Given the description of an element on the screen output the (x, y) to click on. 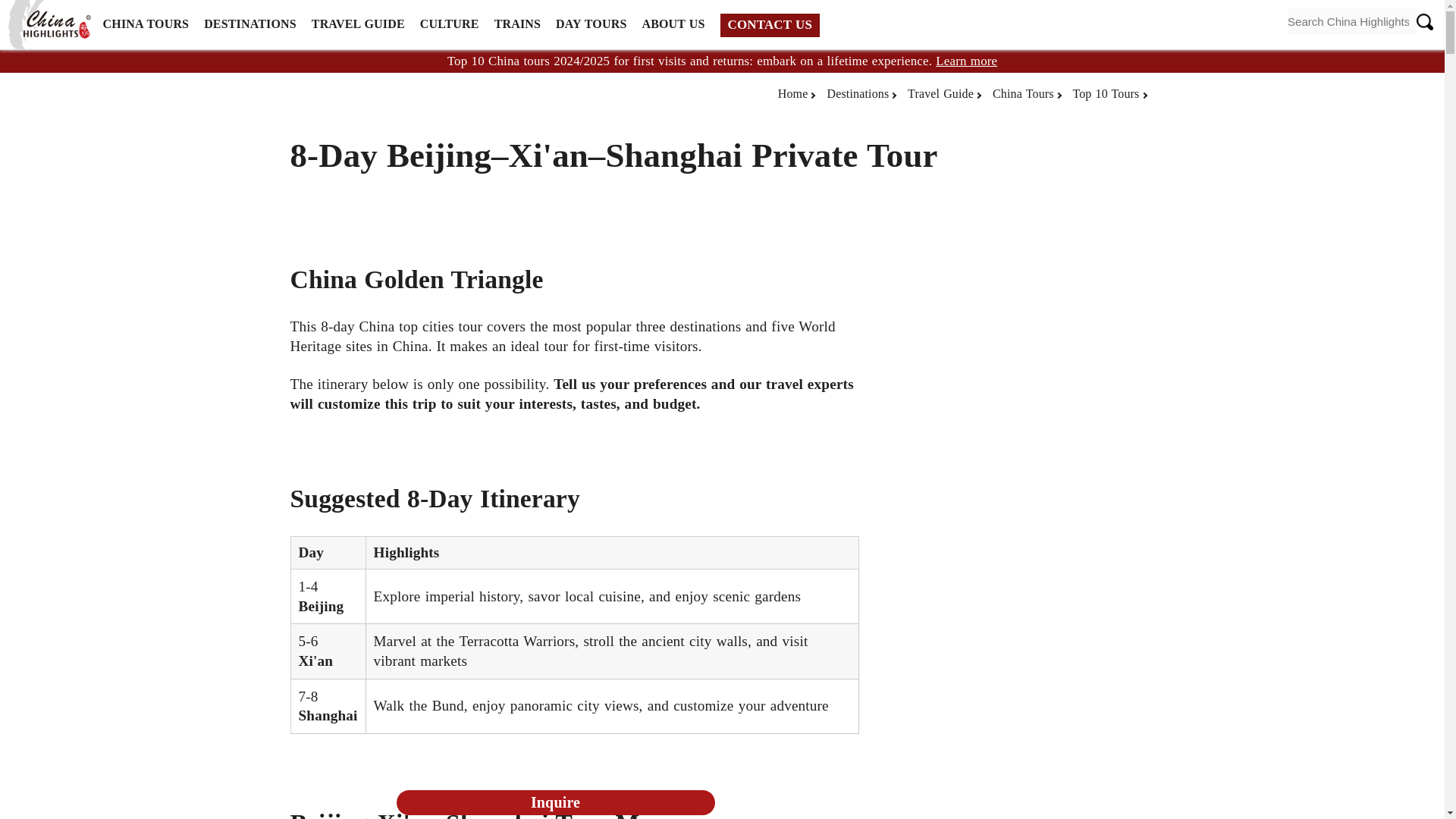
CHINA TOURS (146, 24)
DESTINATIONS (250, 24)
TRAVEL GUIDE (357, 24)
